Given the description of an element on the screen output the (x, y) to click on. 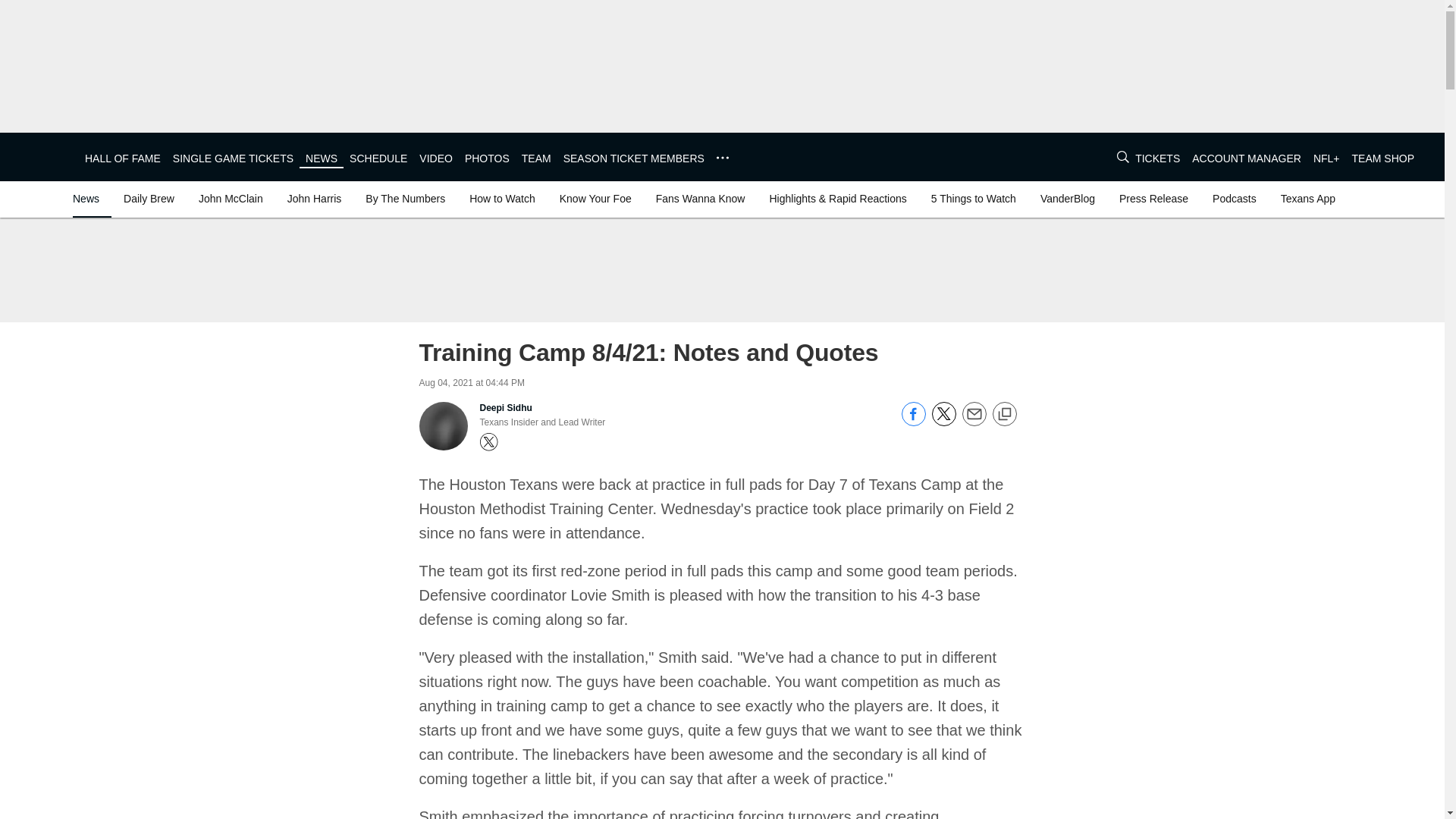
By The Numbers (405, 198)
John McClain (230, 198)
TEAM (536, 158)
ACCOUNT MANAGER (1246, 158)
SCHEDULE (378, 158)
ACCOUNT MANAGER (1246, 158)
TICKETS (1157, 158)
Daily Brew (148, 198)
TICKETS (1157, 158)
SEASON TICKET MEMBERS (633, 158)
PHOTOS (486, 158)
SINGLE GAME TICKETS (233, 158)
SEASON TICKET MEMBERS (633, 158)
SCHEDULE (378, 158)
PHOTOS (486, 158)
